Given the description of an element on the screen output the (x, y) to click on. 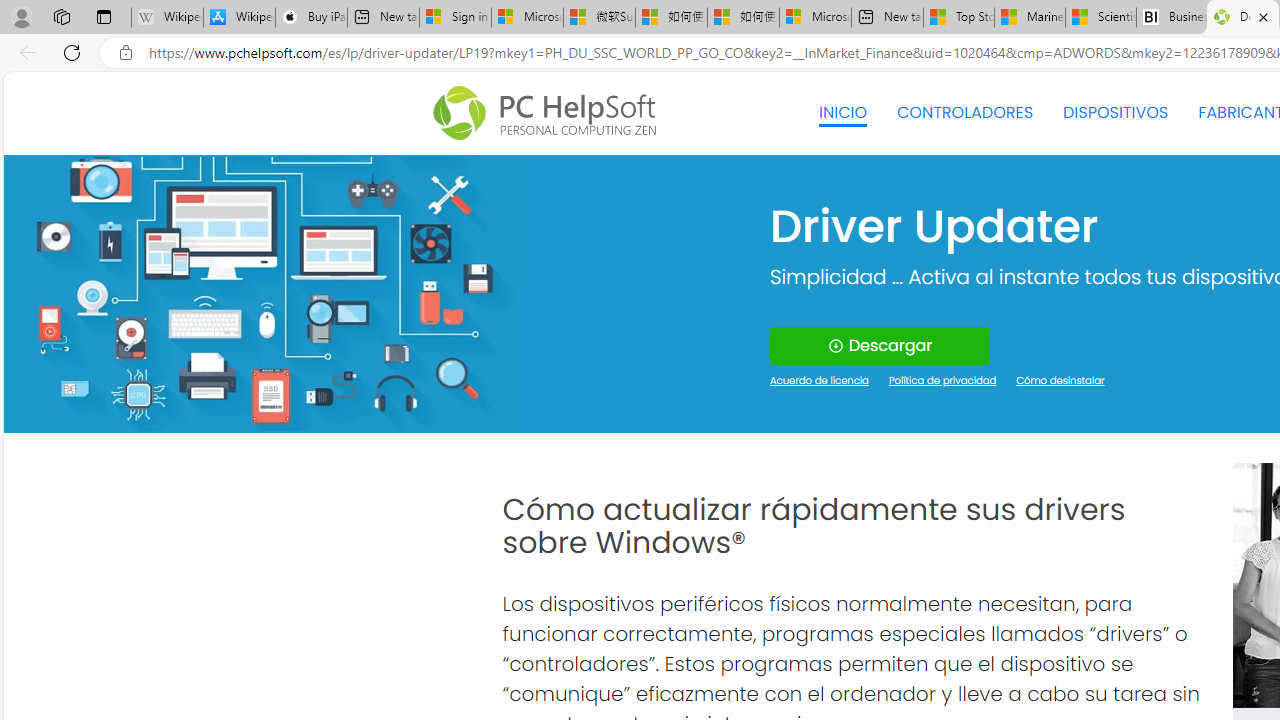
Sign in to your Microsoft account (455, 17)
Generic (263, 293)
Acuerdo de licencia (819, 381)
CONTROLADORES (965, 112)
Top Stories - MSN (959, 17)
INICIO (842, 112)
CONTROLADORES (965, 112)
